Given the description of an element on the screen output the (x, y) to click on. 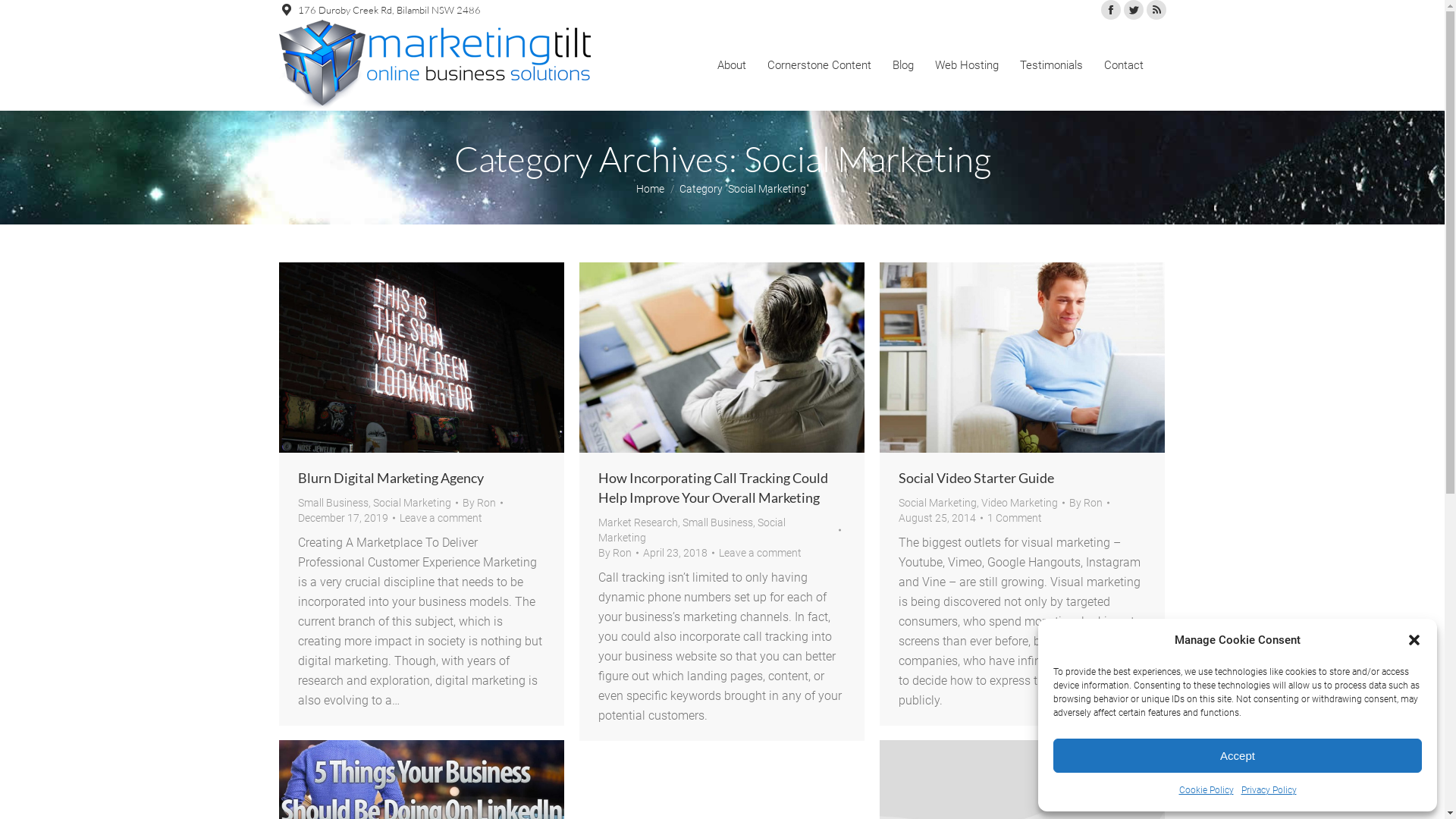
Accept Element type: text (1237, 755)
Home Element type: text (649, 188)
1 Comment Element type: text (1014, 517)
Burn Digital Marketing Element type: hover (421, 357)
Blurn Digital Marketing Agency Element type: text (390, 477)
Testimonials Element type: text (1050, 64)
Contact Element type: text (1123, 64)
By Ron Element type: text (1089, 502)
Leave a comment Element type: text (759, 552)
By Ron Element type: text (482, 502)
Small Business Element type: text (332, 502)
Social Marketing Element type: text (936, 502)
Rss page opens in new window Element type: text (1156, 9)
Privacy Policy Element type: text (1267, 790)
Facebook page opens in new window Element type: text (1110, 9)
April 23, 2018 Element type: text (678, 552)
Social Video Starter Guide Element type: hover (1021, 357)
Social Video Starter Guide Element type: text (975, 477)
Cornerstone Content Element type: text (819, 64)
Video Marketing Element type: text (1019, 502)
Social Marketing Element type: text (690, 529)
Small Business Element type: text (717, 522)
About Element type: text (731, 64)
Go! Element type: text (23, 16)
Leave a comment Element type: text (439, 517)
Market Research Element type: text (637, 522)
August 25, 2014 Element type: text (939, 517)
Social Marketing Element type: text (412, 502)
Twitter page opens in new window Element type: text (1133, 9)
December 17, 2019 Element type: text (345, 517)
By Ron Element type: text (617, 552)
Blog Element type: text (902, 64)
Cookie Policy Element type: text (1205, 790)
Web Hosting Element type: text (965, 64)
